Given the description of an element on the screen output the (x, y) to click on. 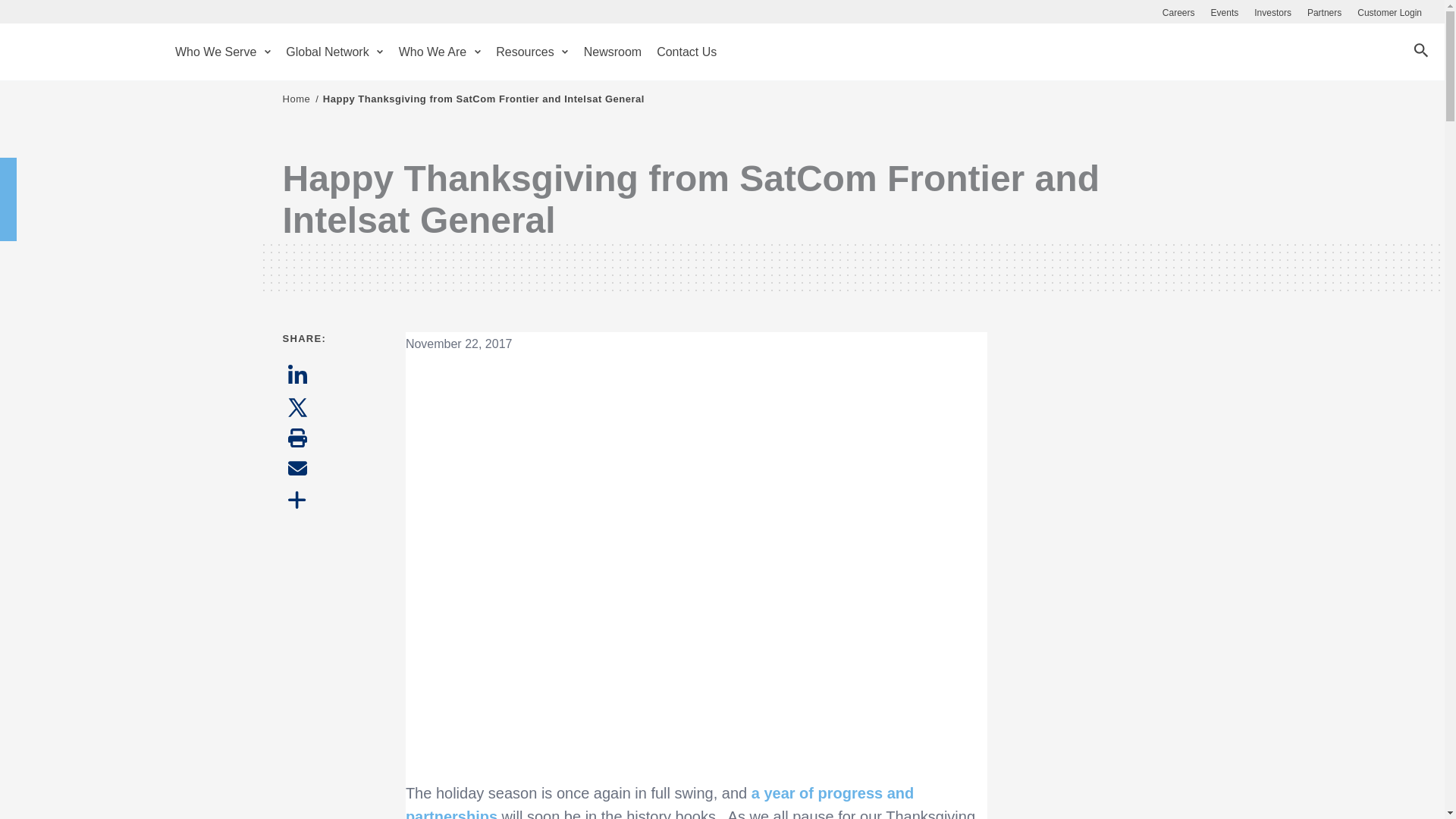
Careers (1178, 12)
Partners (1323, 12)
Events (1225, 12)
Who We Serve (222, 63)
Investors (1272, 12)
Customer Login (1389, 12)
